Given the description of an element on the screen output the (x, y) to click on. 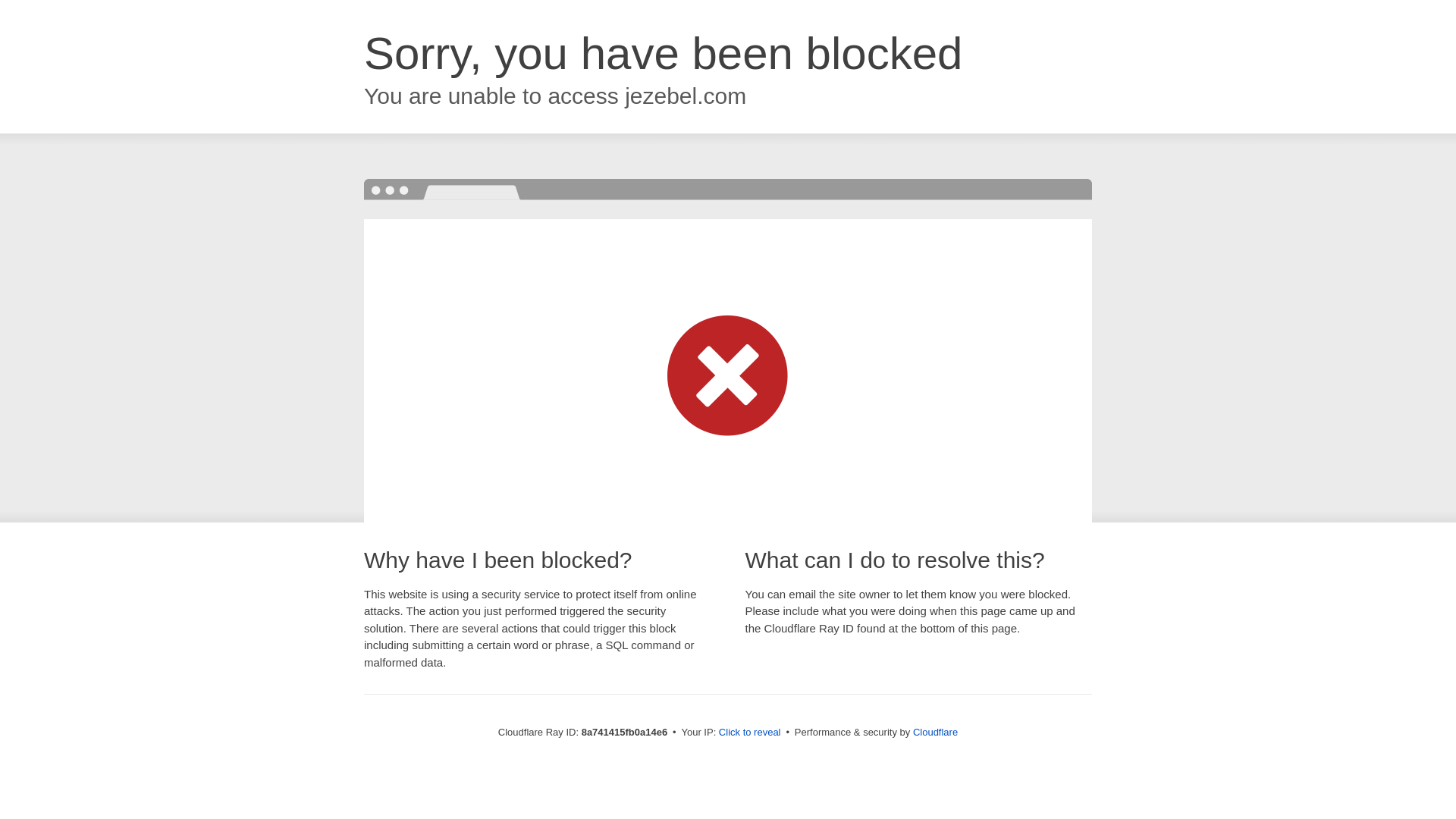
Click to reveal (749, 732)
Cloudflare (935, 731)
